Given the description of an element on the screen output the (x, y) to click on. 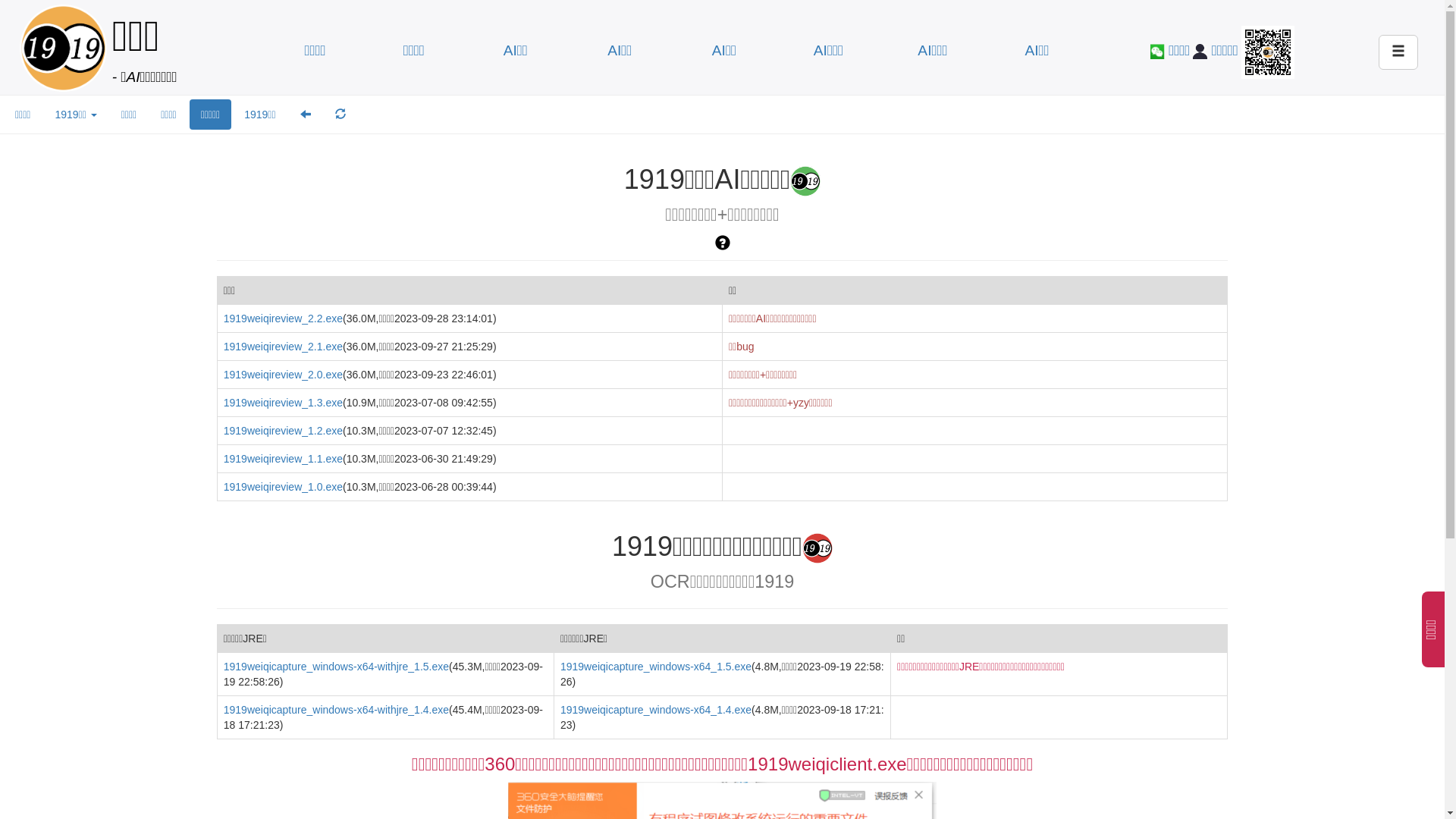
1919weiqicapture_windows-x64-withjre_1.5.exe Element type: text (335, 666)
1919weiqireview_1.0.exe Element type: text (282, 486)
1919weiqireview_1.2.exe Element type: text (282, 430)
1919weiqireview_1.3.exe Element type: text (282, 402)
1919weiqicapture_windows-x64-withjre_1.4.exe Element type: text (335, 709)
1919weiqicapture_windows-x64_1.5.exe Element type: text (655, 666)
1919weiqireview_1.1.exe Element type: text (282, 458)
1919weiqireview_2.2.exe Element type: text (282, 318)
1919weiqireview_2.0.exe Element type: text (282, 374)
1919weiqireview_2.1.exe Element type: text (282, 346)
1919weiqicapture_windows-x64_1.4.exe Element type: text (655, 709)
